Given the description of an element on the screen output the (x, y) to click on. 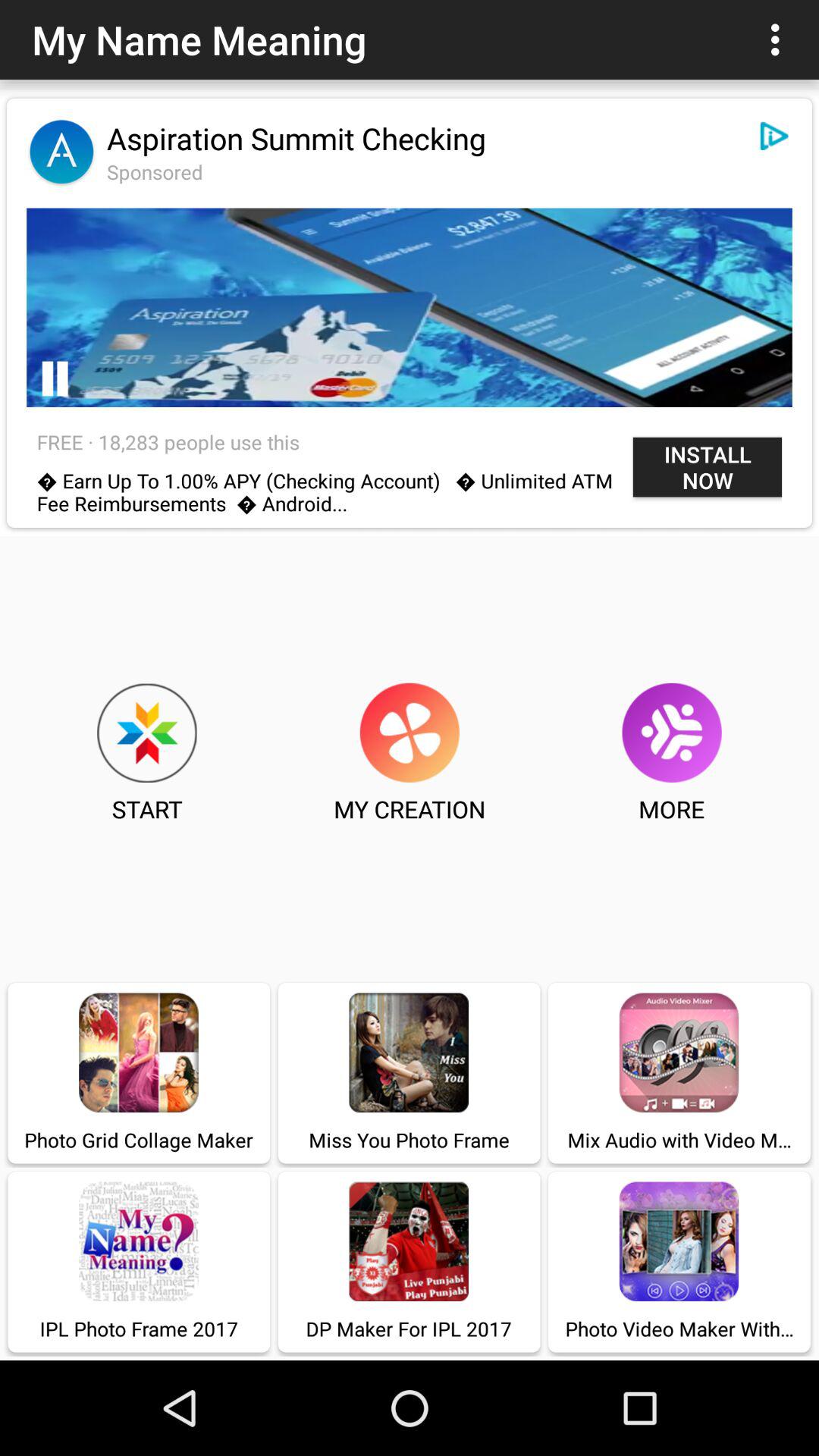
pause the advertisement (54, 378)
